Given the description of an element on the screen output the (x, y) to click on. 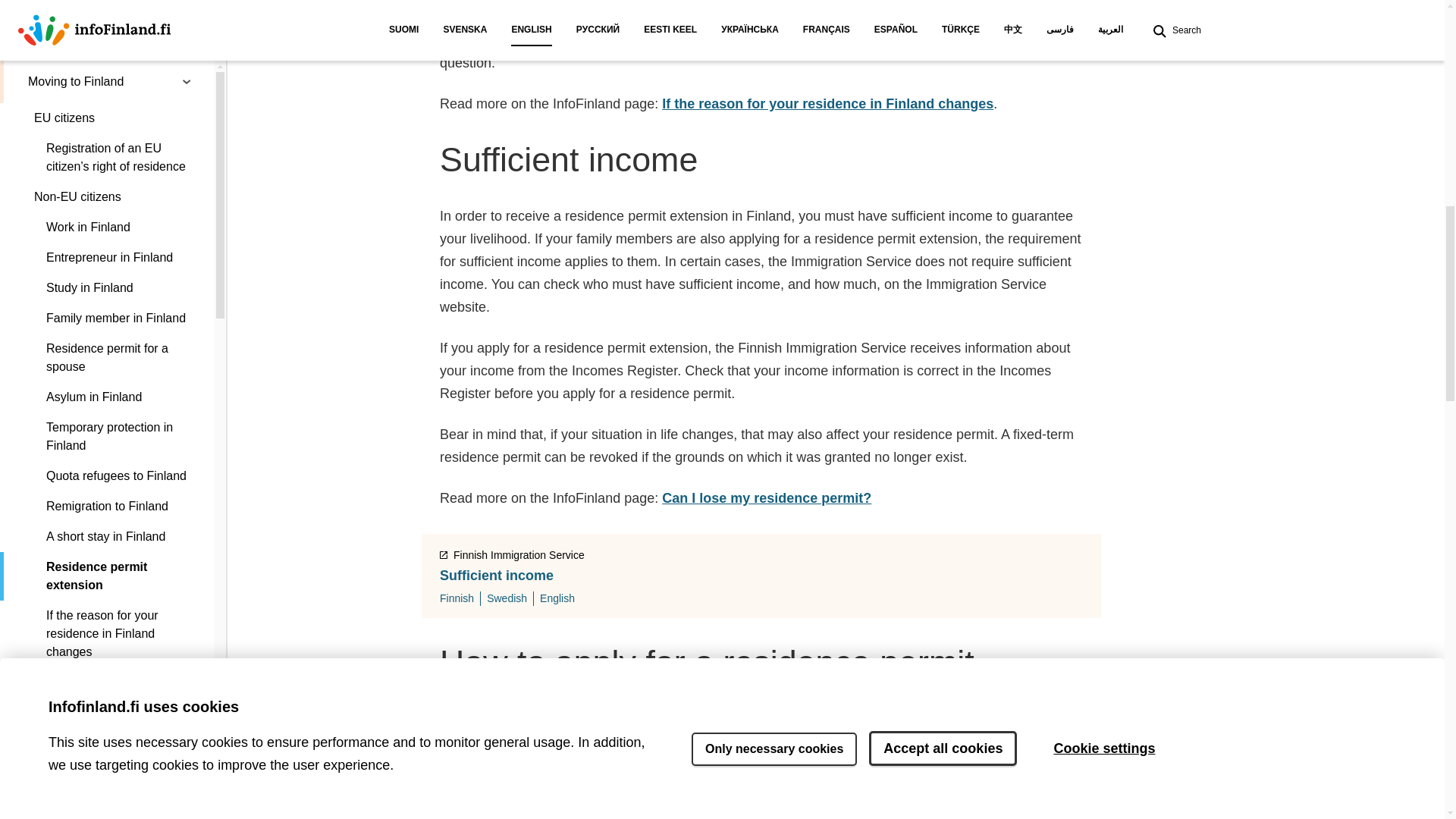
mainMenu.open (186, 215)
Can I lose my residence permit? (107, 2)
mainMenu.open (186, 257)
